Given the description of an element on the screen output the (x, y) to click on. 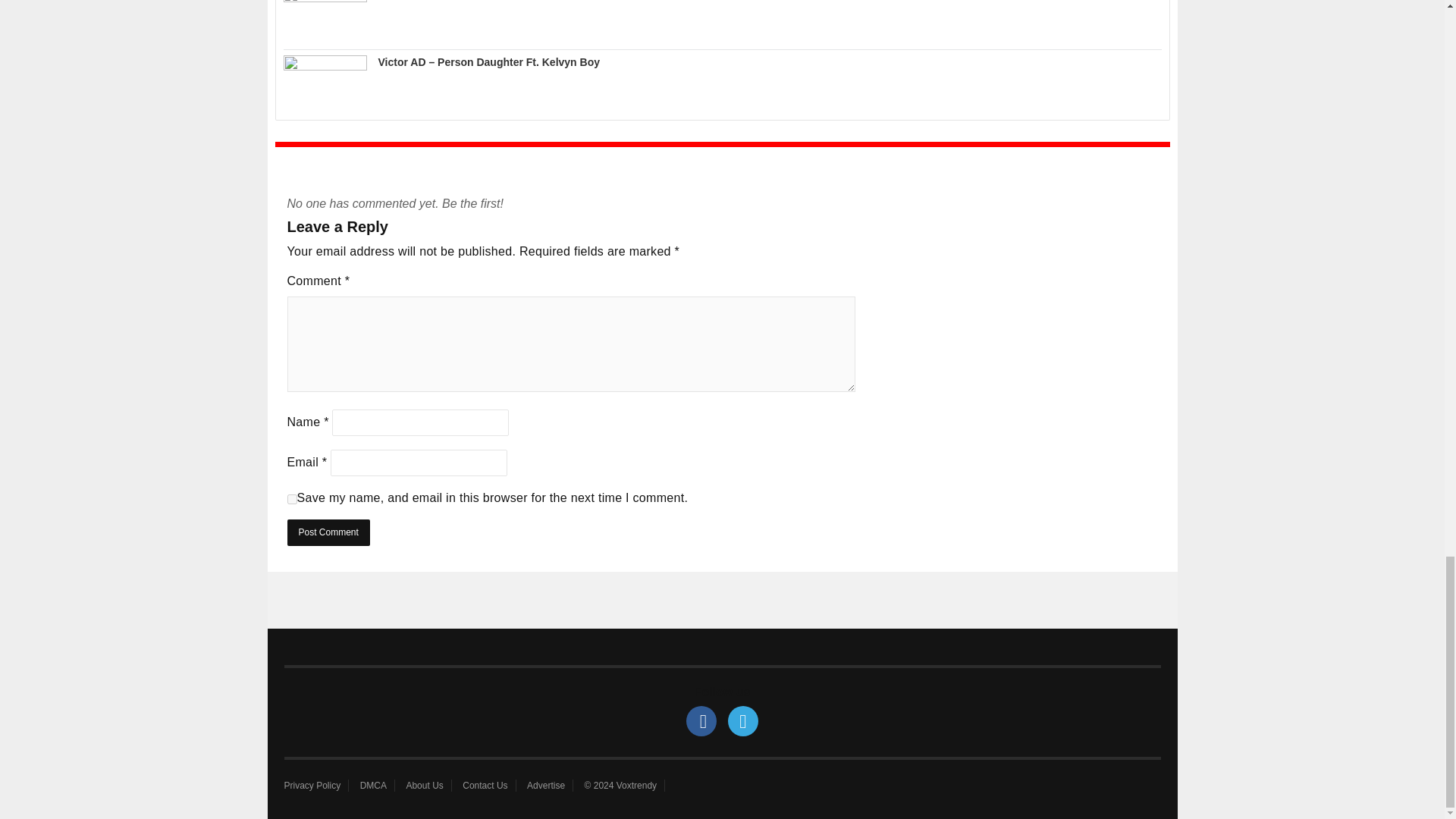
Post Comment (327, 532)
yes (291, 499)
